Given the description of an element on the screen output the (x, y) to click on. 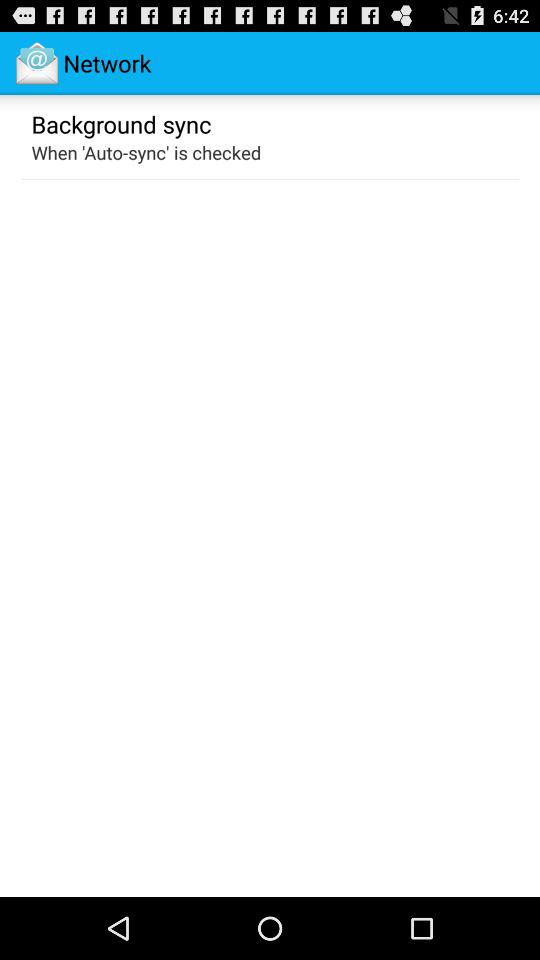
scroll until the background sync app (121, 123)
